Given the description of an element on the screen output the (x, y) to click on. 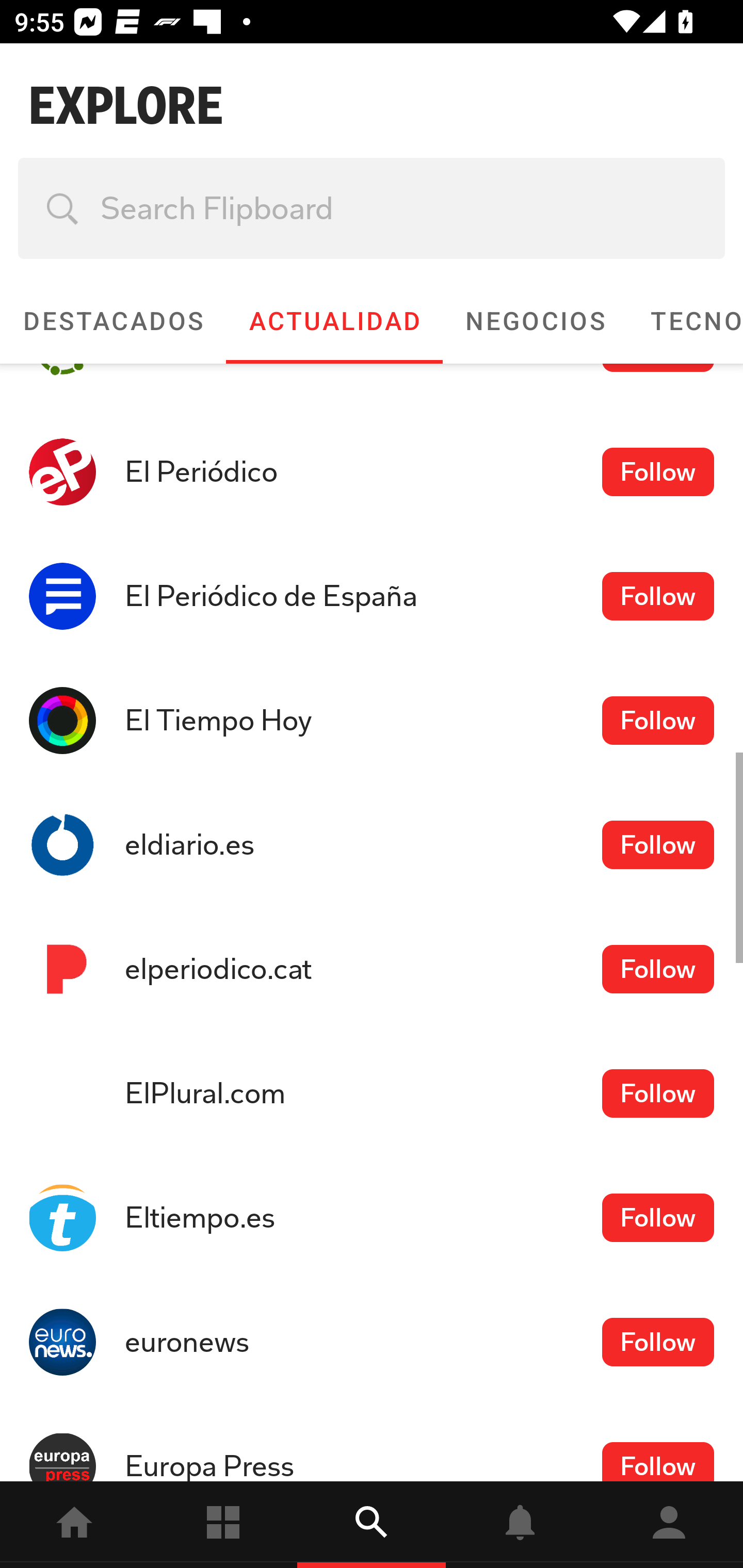
Search Flipboard (371, 208)
Destacados DESTACADOS (112, 320)
Negocios NEGOCIOS (534, 320)
Tecnología & Ciencia TECNOLOGÍA & CIENCIA (685, 320)
El Periódico Follow (371, 471)
Follow (657, 471)
El Periódico de España Follow (371, 595)
Follow (657, 596)
El Tiempo Hoy Follow (371, 720)
Follow (657, 720)
eldiario.es Follow (371, 844)
Follow (657, 844)
elperiodico.cat Follow (371, 968)
Follow (657, 969)
ElPlural.com Follow (371, 1093)
Follow (657, 1093)
Eltiempo.es Follow (371, 1217)
Follow (657, 1217)
euronews Follow (371, 1341)
Follow (657, 1341)
Europa Press Follow (371, 1442)
Follow (657, 1461)
home (74, 1524)
Following (222, 1524)
explore (371, 1524)
Notifications (519, 1524)
Profile (668, 1524)
